Given the description of an element on the screen output the (x, y) to click on. 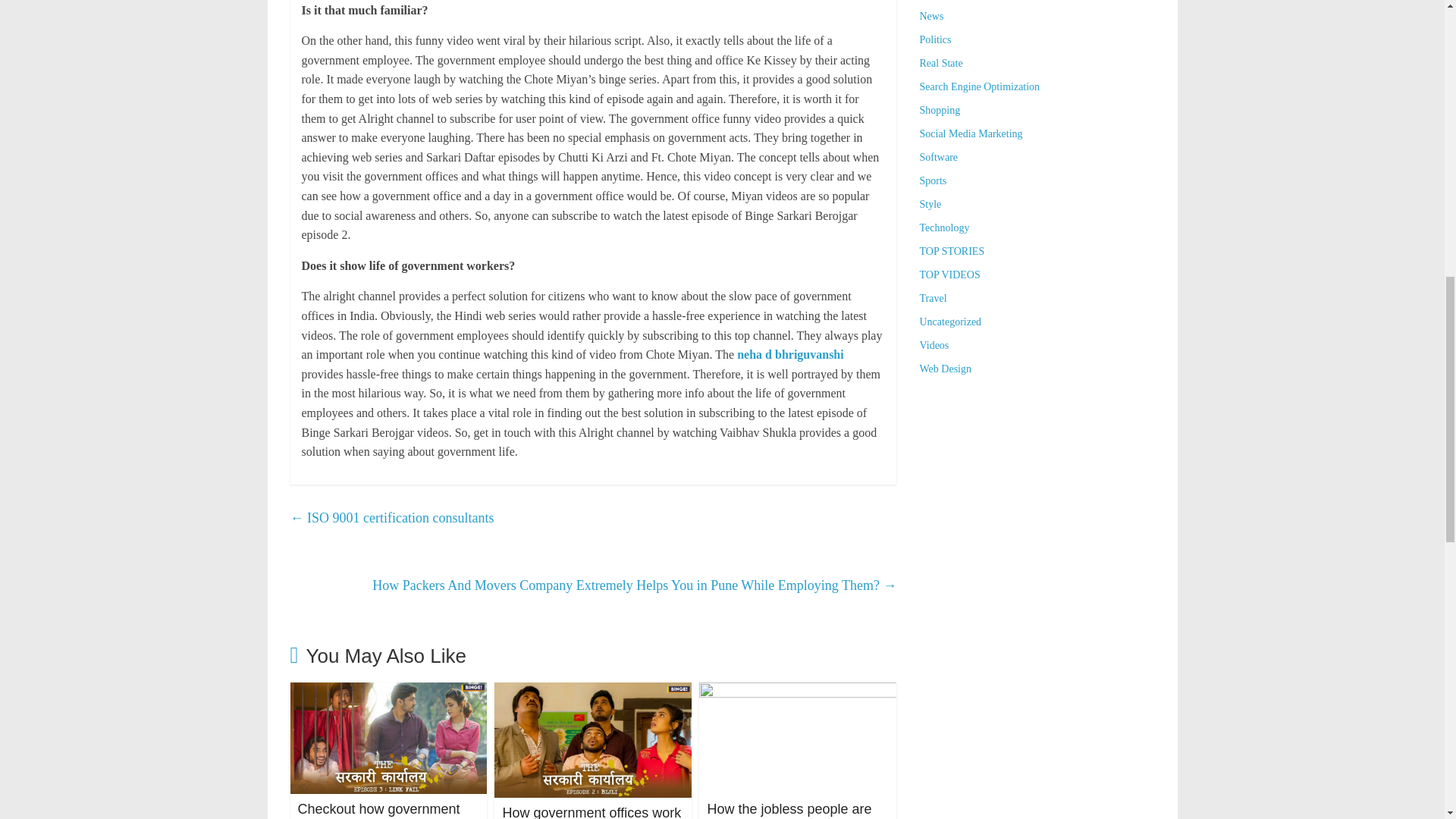
How government offices work based on the people? (593, 691)
How government offices work based on the people? (591, 812)
neha d bhriguvanshi (790, 354)
How government offices work based on the people? (591, 812)
